Given the description of an element on the screen output the (x, y) to click on. 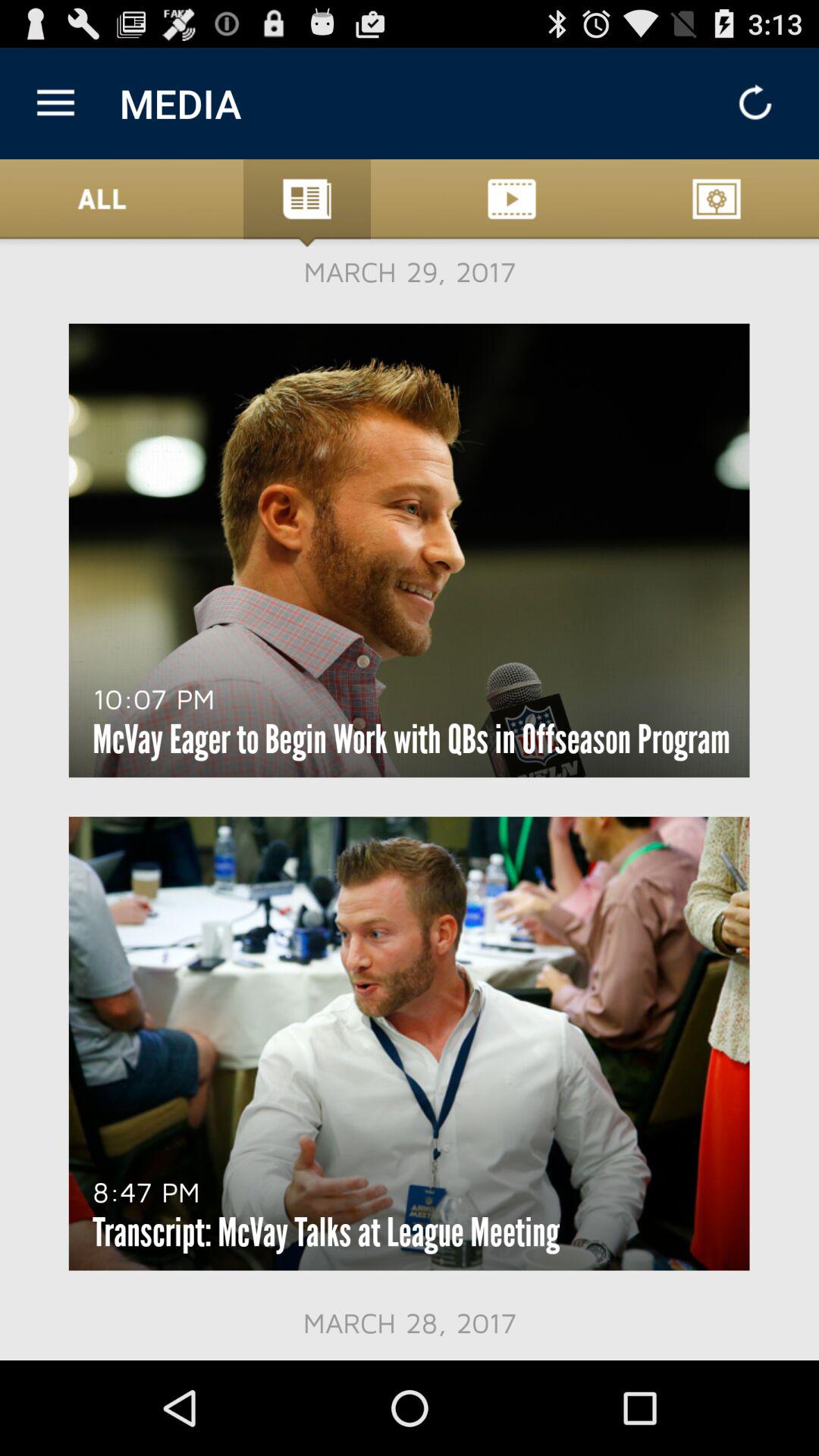
select transcript mcvay talks icon (325, 1232)
